Given the description of an element on the screen output the (x, y) to click on. 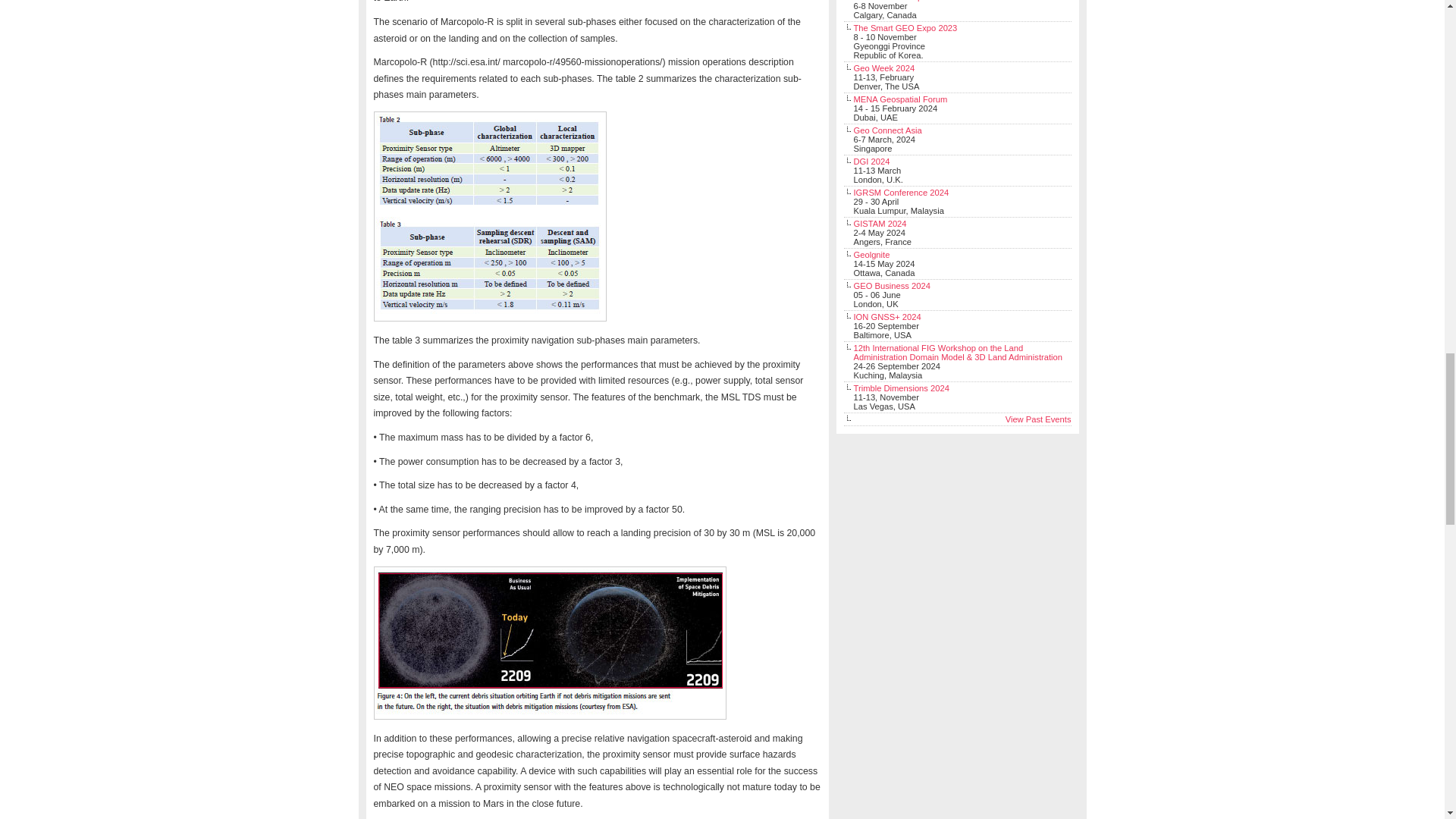
r1 (488, 216)
r1 (548, 642)
